Given the description of an element on the screen output the (x, y) to click on. 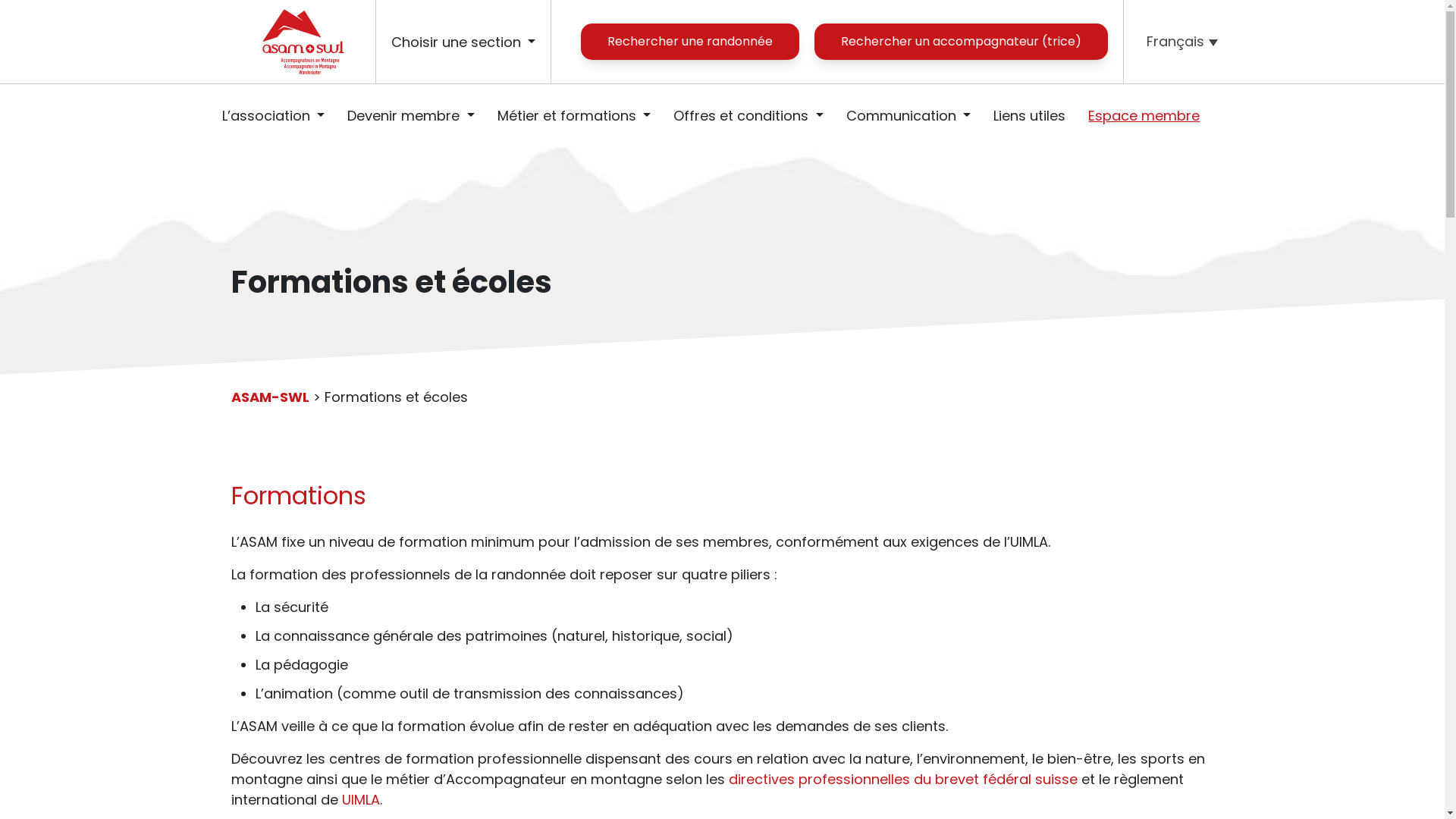
Devenir membre Element type: text (410, 115)
Espace membre Element type: text (716, 175)
Offres et conditions Element type: text (748, 115)
Communication Element type: text (908, 115)
Choisir une section Element type: text (463, 41)
Liens utiles Element type: text (1029, 115)
Articles de presse Element type: text (716, 96)
UIMLA Element type: text (360, 799)
Rechercher un accompagnateur (trice) Element type: text (960, 41)
Liens utiles Element type: text (716, 142)
Communication Element type: text (716, 36)
Espace membre Element type: text (1143, 115)
ASAM-SWL Element type: text (269, 396)
ASAM-SWL Element type: hover (302, 41)
